Given the description of an element on the screen output the (x, y) to click on. 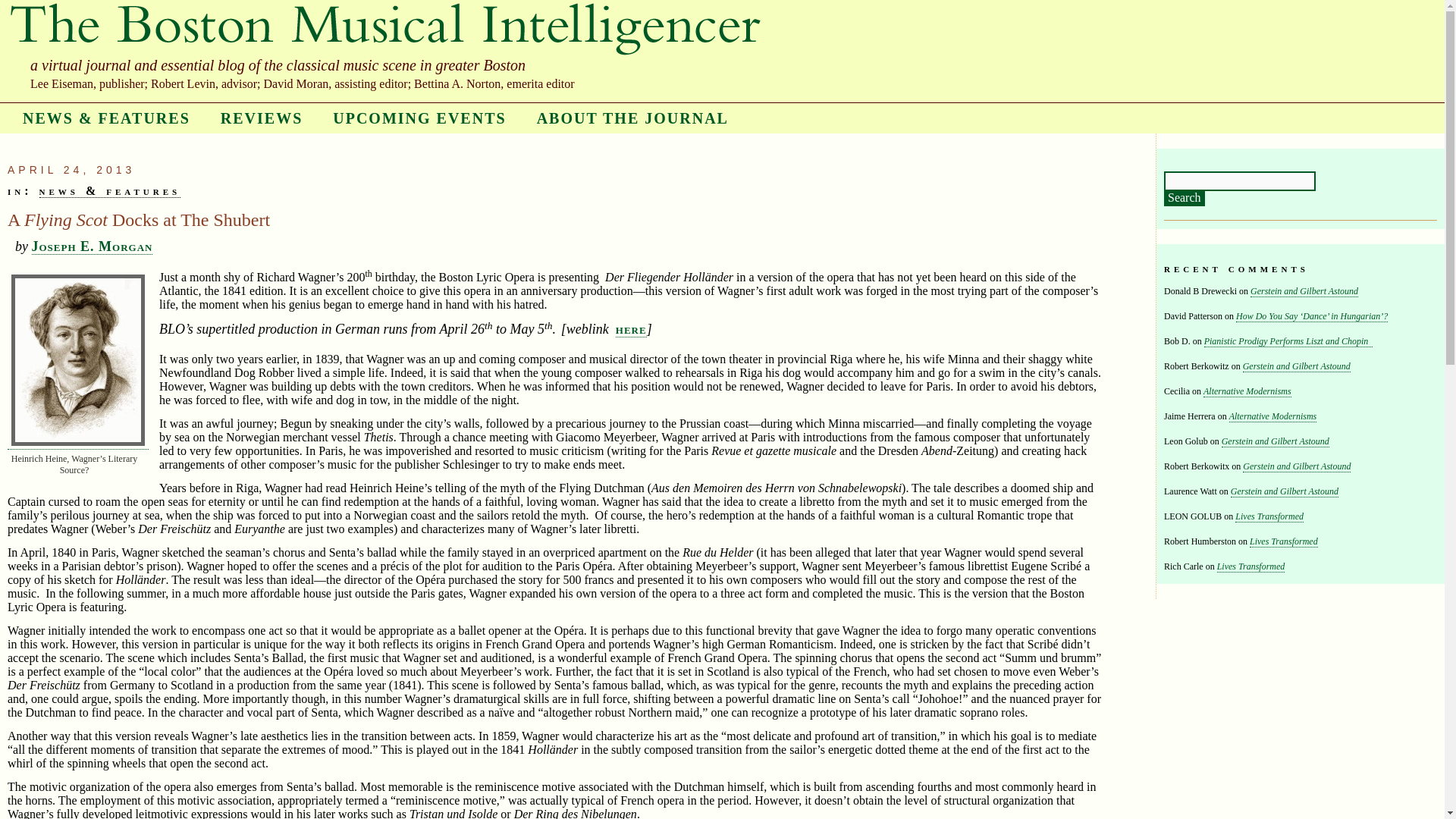
Lives Transformed (1251, 566)
here (630, 329)
Search (1184, 198)
Alternative Modernisms (1272, 416)
REVIEWS (261, 118)
Joseph E. Morgan (92, 246)
Gerstein and Gilbert Astound (1304, 291)
UPCOMING EVENTS (419, 118)
Pianistic Prodigy Performs Liszt and Chopin   (1288, 341)
Gerstein and Gilbert Astound (1297, 466)
